Given the description of an element on the screen output the (x, y) to click on. 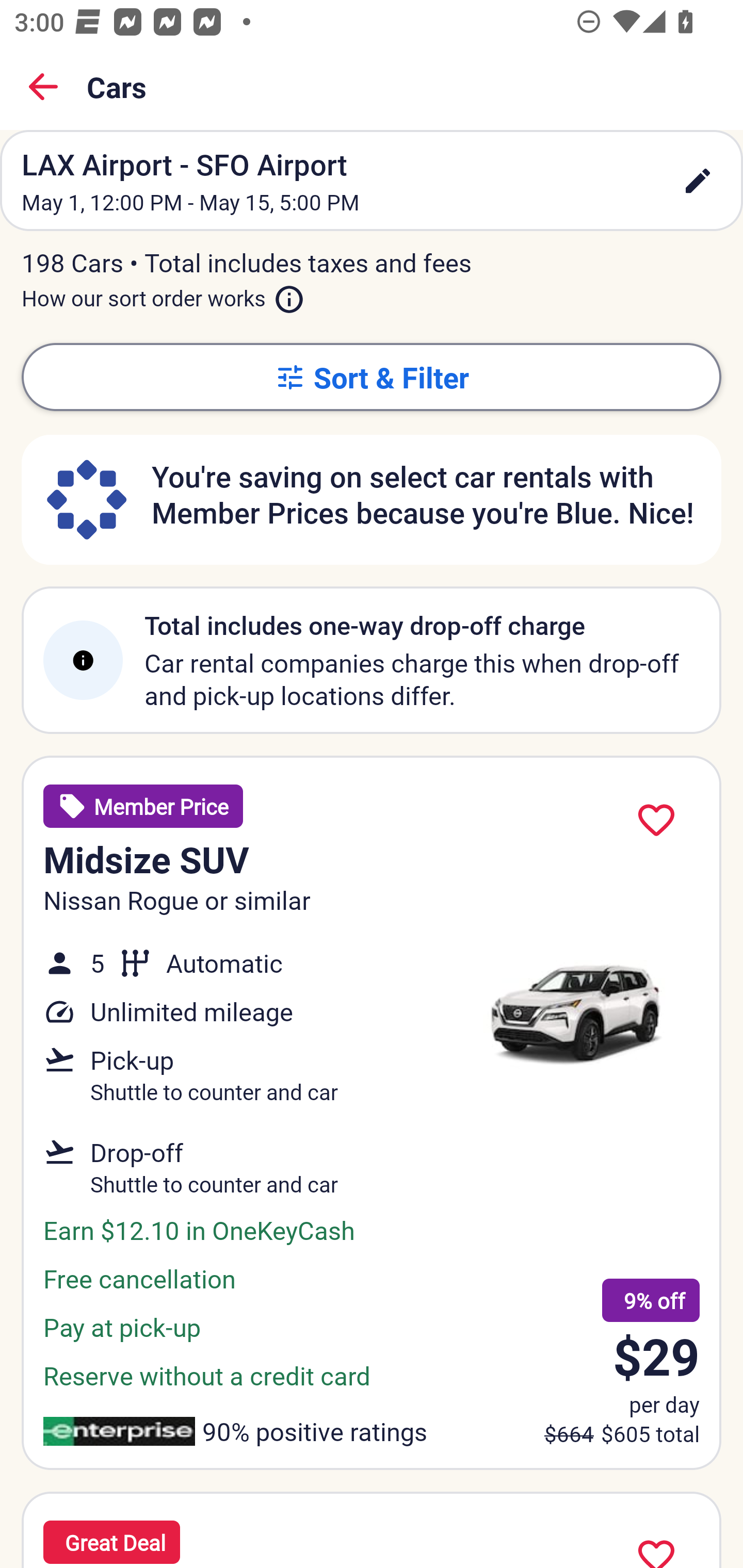
Back (43, 86)
edit (697, 180)
How our sort order works (163, 294)
Sort & Filter (371, 376)
